Given the description of an element on the screen output the (x, y) to click on. 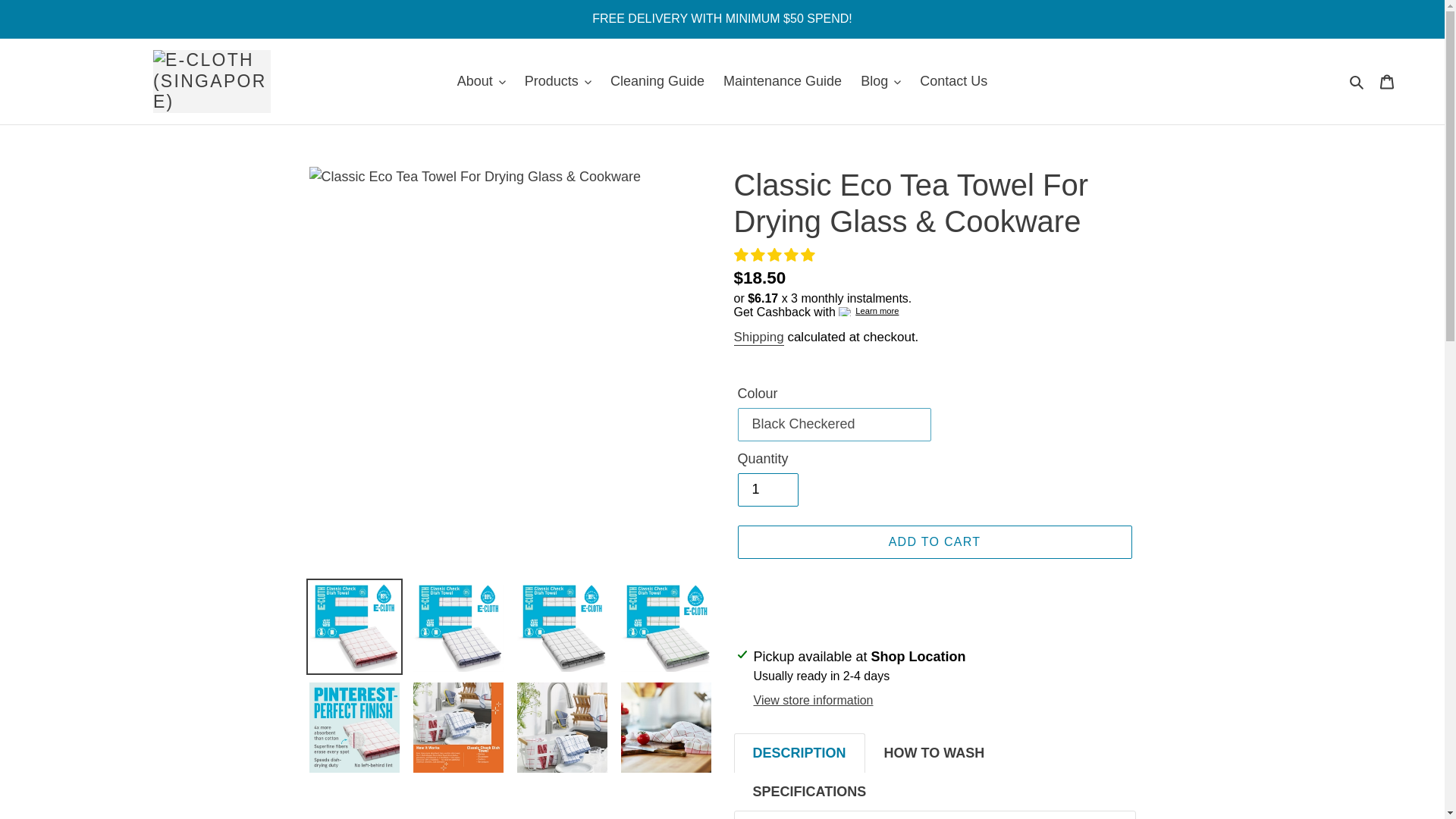
1 (766, 489)
Contact Us (953, 81)
Maintenance Guide (782, 81)
Products (557, 81)
Search (1357, 81)
Cart (1387, 81)
Cleaning Guide (656, 81)
About (481, 81)
Blog (880, 81)
